Given the description of an element on the screen output the (x, y) to click on. 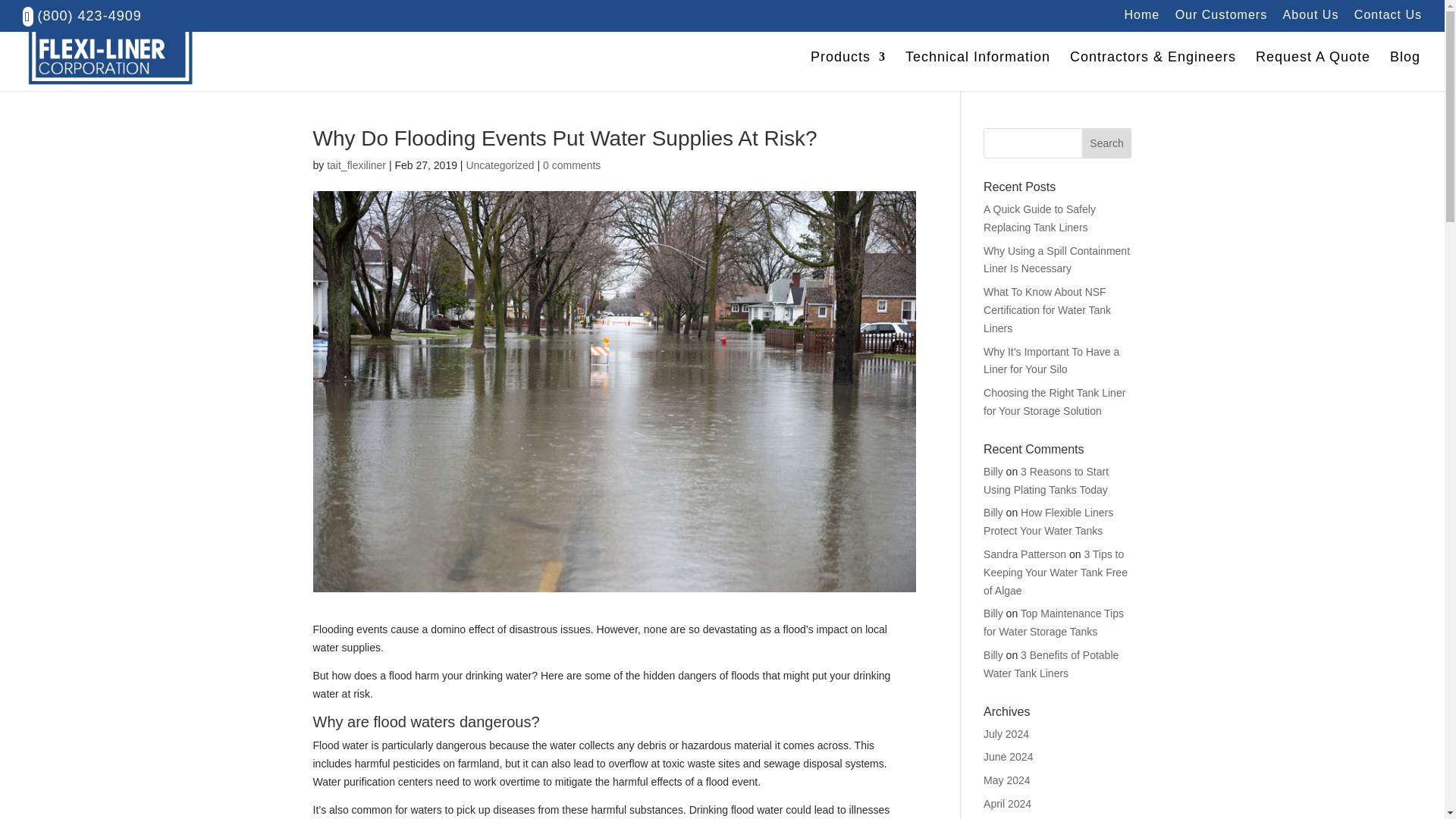
A Quick Guide to Safely Replacing Tank Liners (1040, 218)
3 Reasons to Start Using Plating Tanks Today (1046, 481)
Request A Quote (1312, 70)
Choosing the Right Tank Liner for Your Storage Solution (1054, 401)
Search (1106, 142)
Contact Us (1388, 19)
Sandra Patterson (1024, 553)
Our Customers (1220, 19)
Search (1106, 142)
0 comments (571, 164)
Technical Information (977, 70)
Why Using a Spill Containment Liner Is Necessary (1056, 259)
Home (1142, 19)
Products (847, 70)
Billy (993, 471)
